Given the description of an element on the screen output the (x, y) to click on. 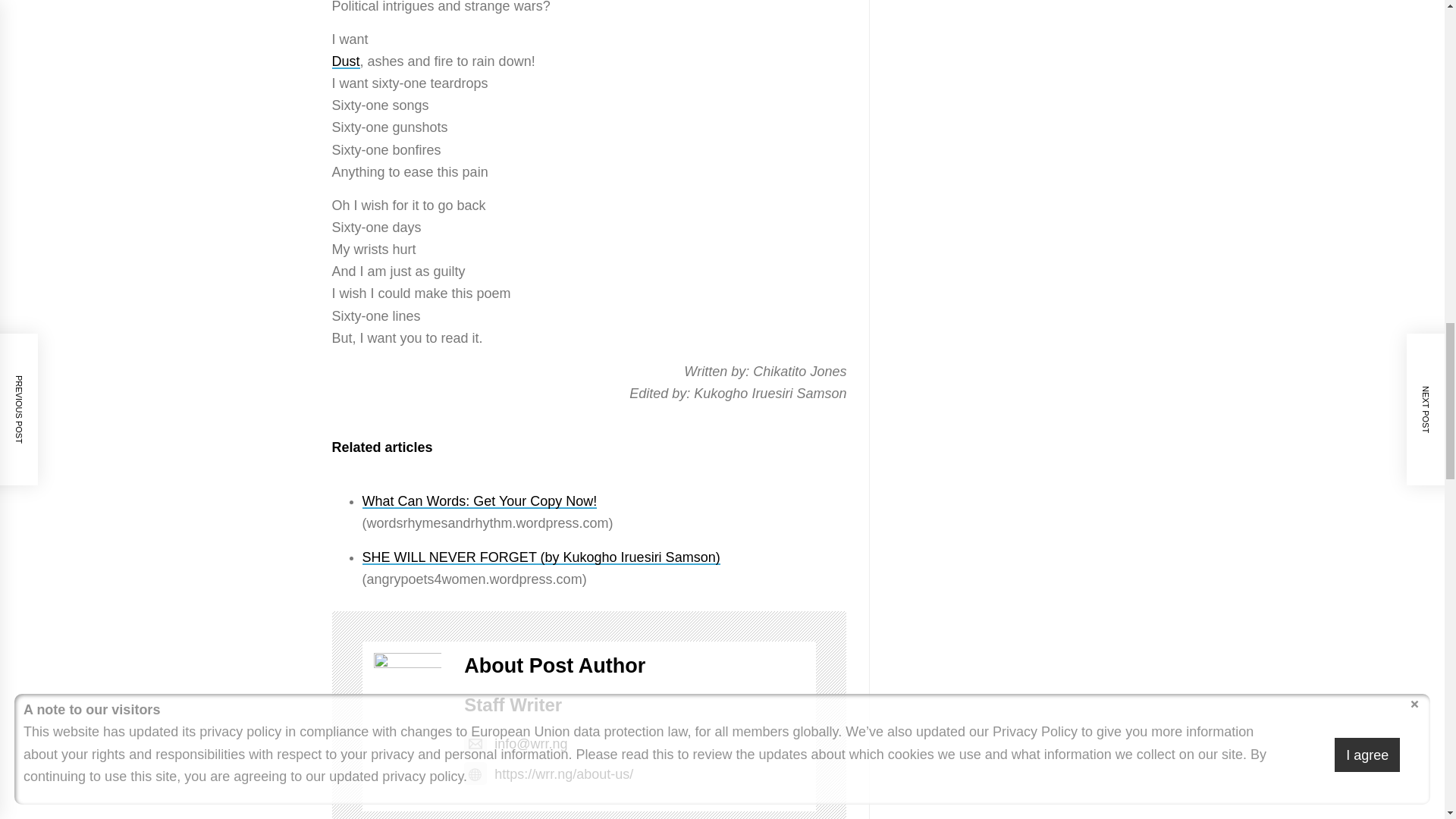
Meteoroid (345, 61)
